Given the description of an element on the screen output the (x, y) to click on. 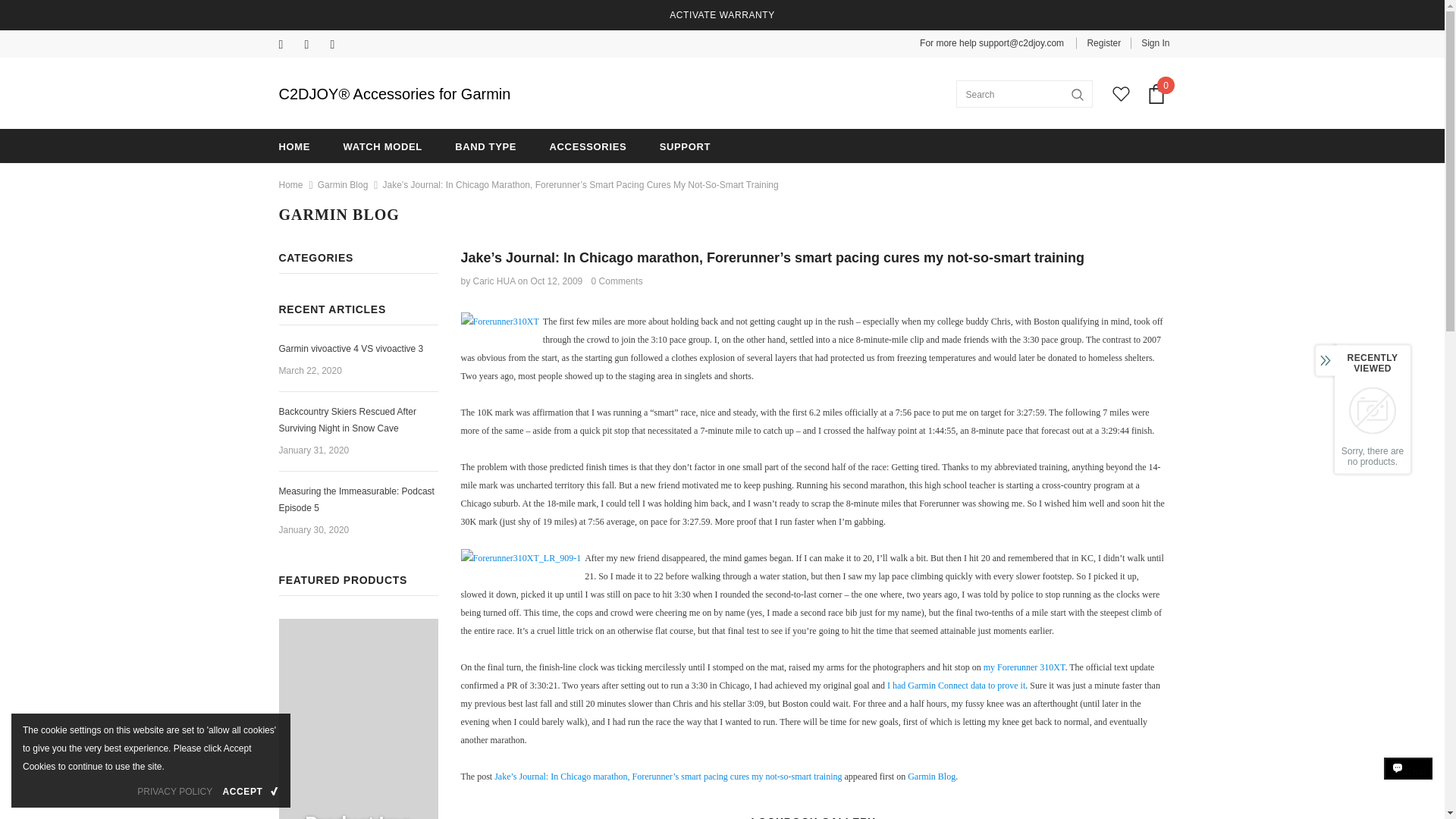
ACTIVATE WARRANTY (721, 15)
Sign In (1150, 43)
HOME (295, 145)
YouTube (339, 45)
WATCH MODEL (382, 145)
0 (1156, 94)
Instagram (313, 45)
Register (1103, 43)
Facebook (288, 45)
